Given the description of an element on the screen output the (x, y) to click on. 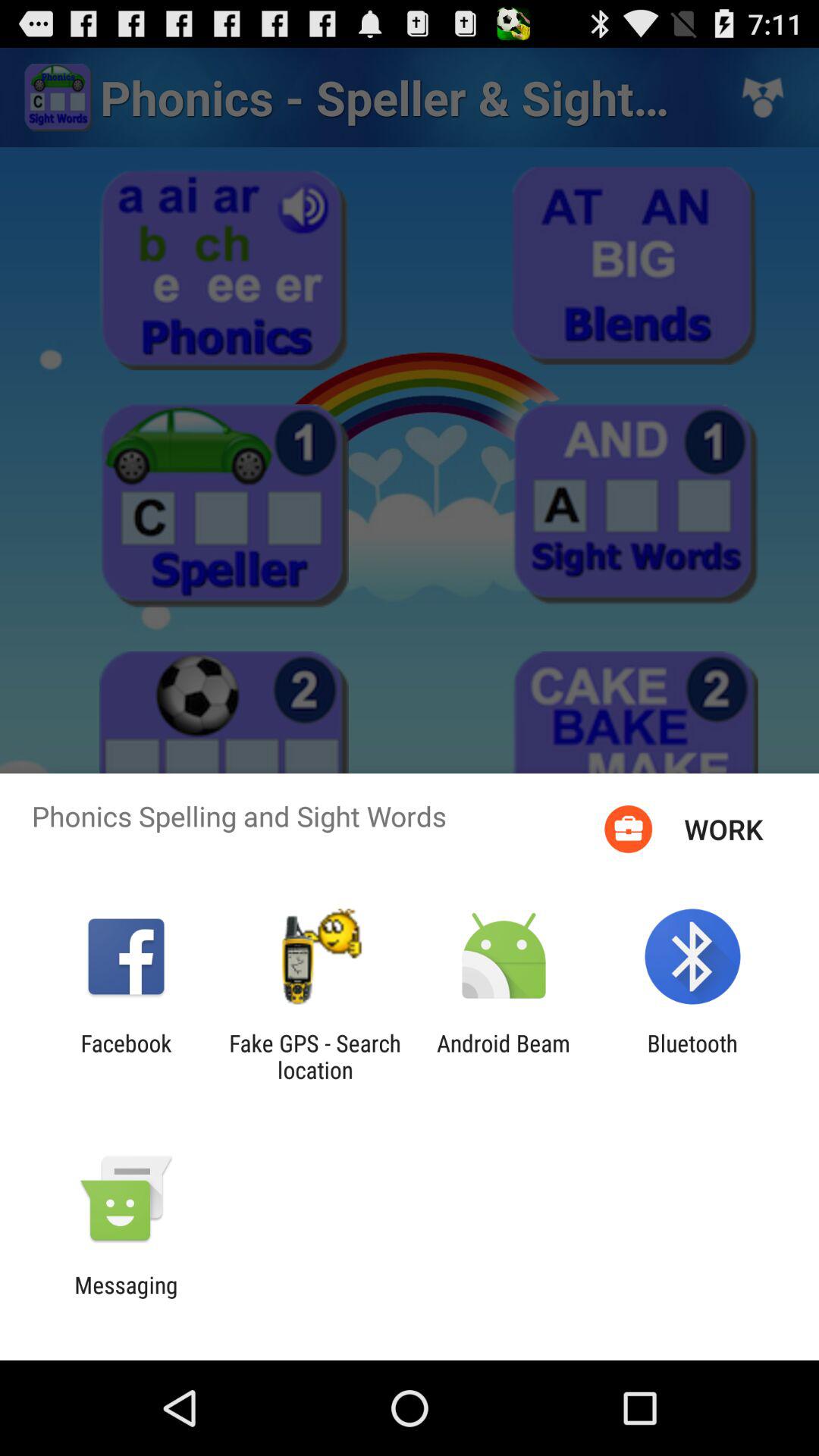
flip until facebook icon (125, 1056)
